Given the description of an element on the screen output the (x, y) to click on. 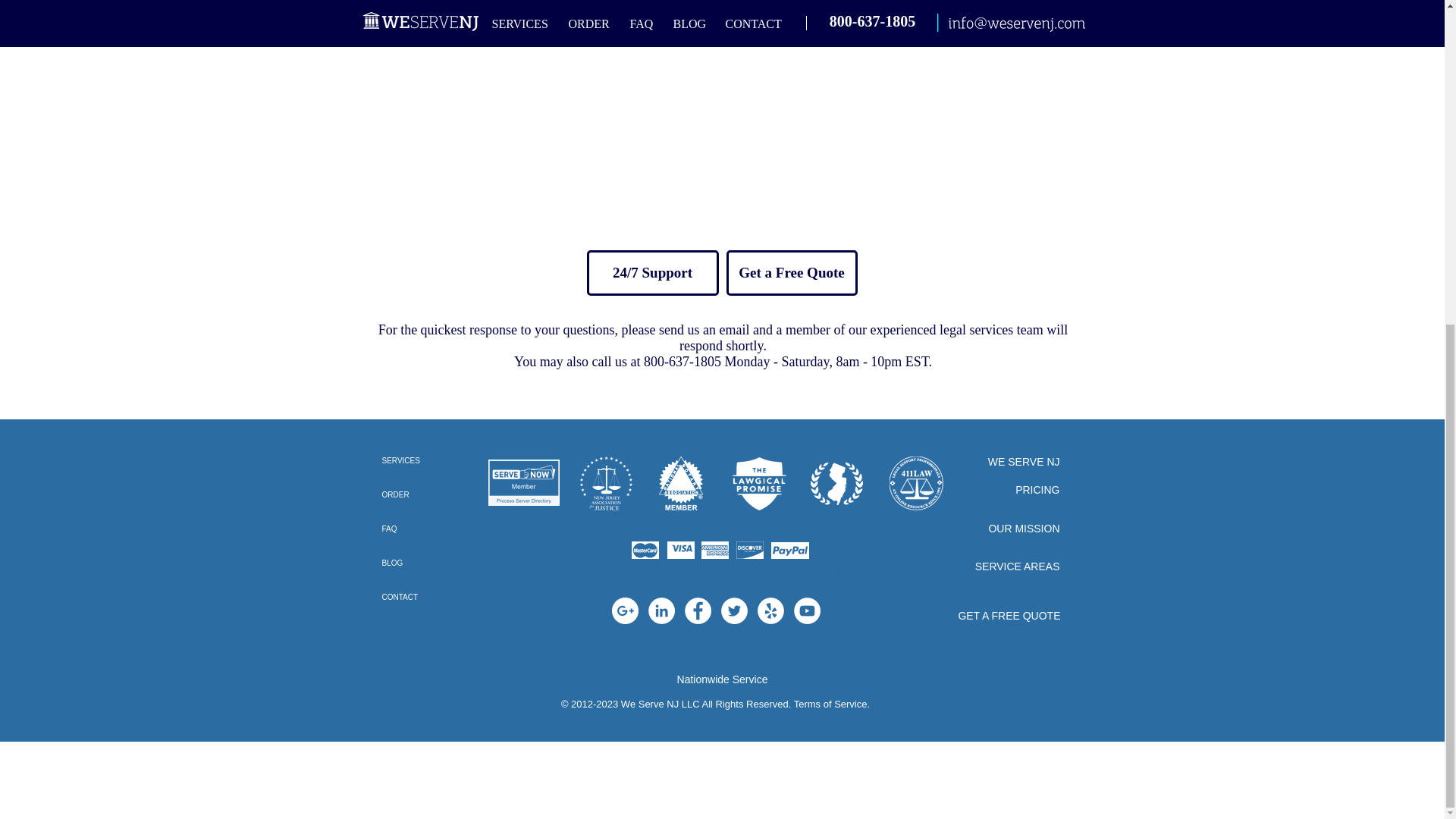
Serve Now Member (523, 482)
National Notary Association Member (680, 483)
NJ Association for Justice Member (605, 483)
New Jersey State process Servers (835, 483)
Facebook Like (411, 641)
Get a Free Quote (791, 272)
www.weservenj.com (873, 583)
